Given the description of an element on the screen output the (x, y) to click on. 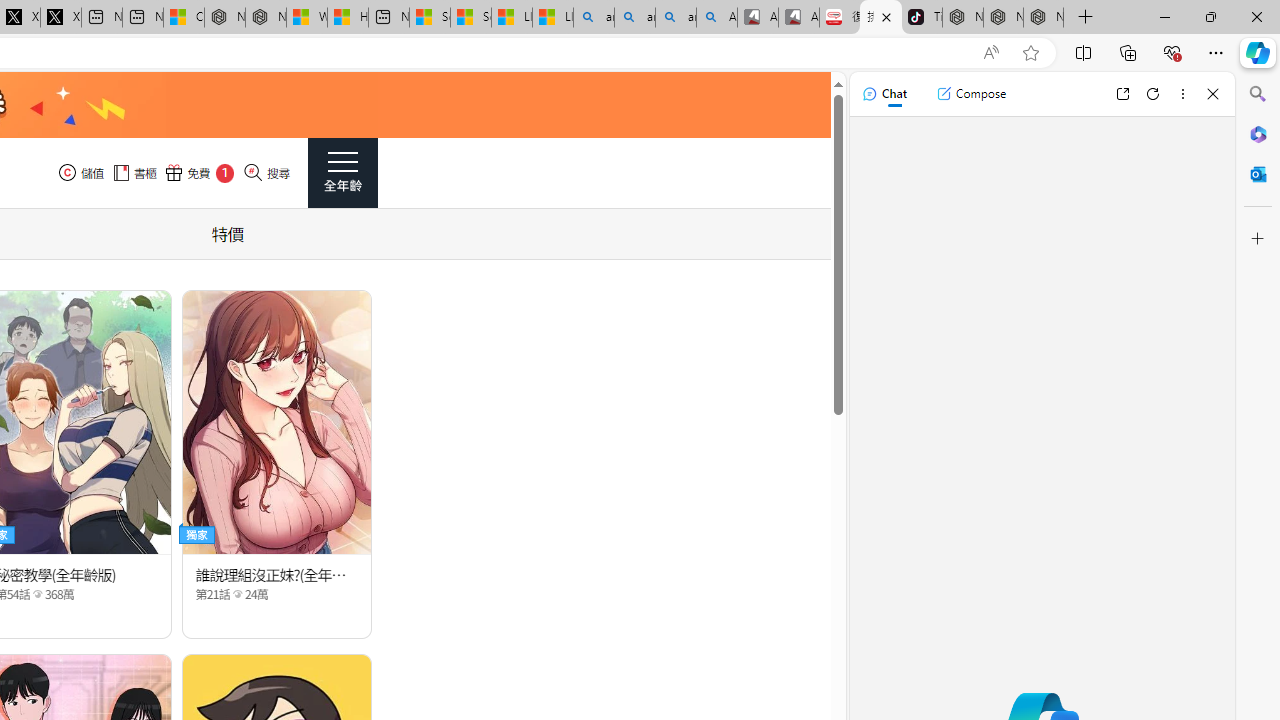
amazon - Search (634, 17)
Chat (884, 93)
Nordace Siena Pro 15 Backpack (1003, 17)
Open link in new tab (1122, 93)
Class: epicon_starpoint (237, 593)
Customize (1258, 239)
